Given the description of an element on the screen output the (x, y) to click on. 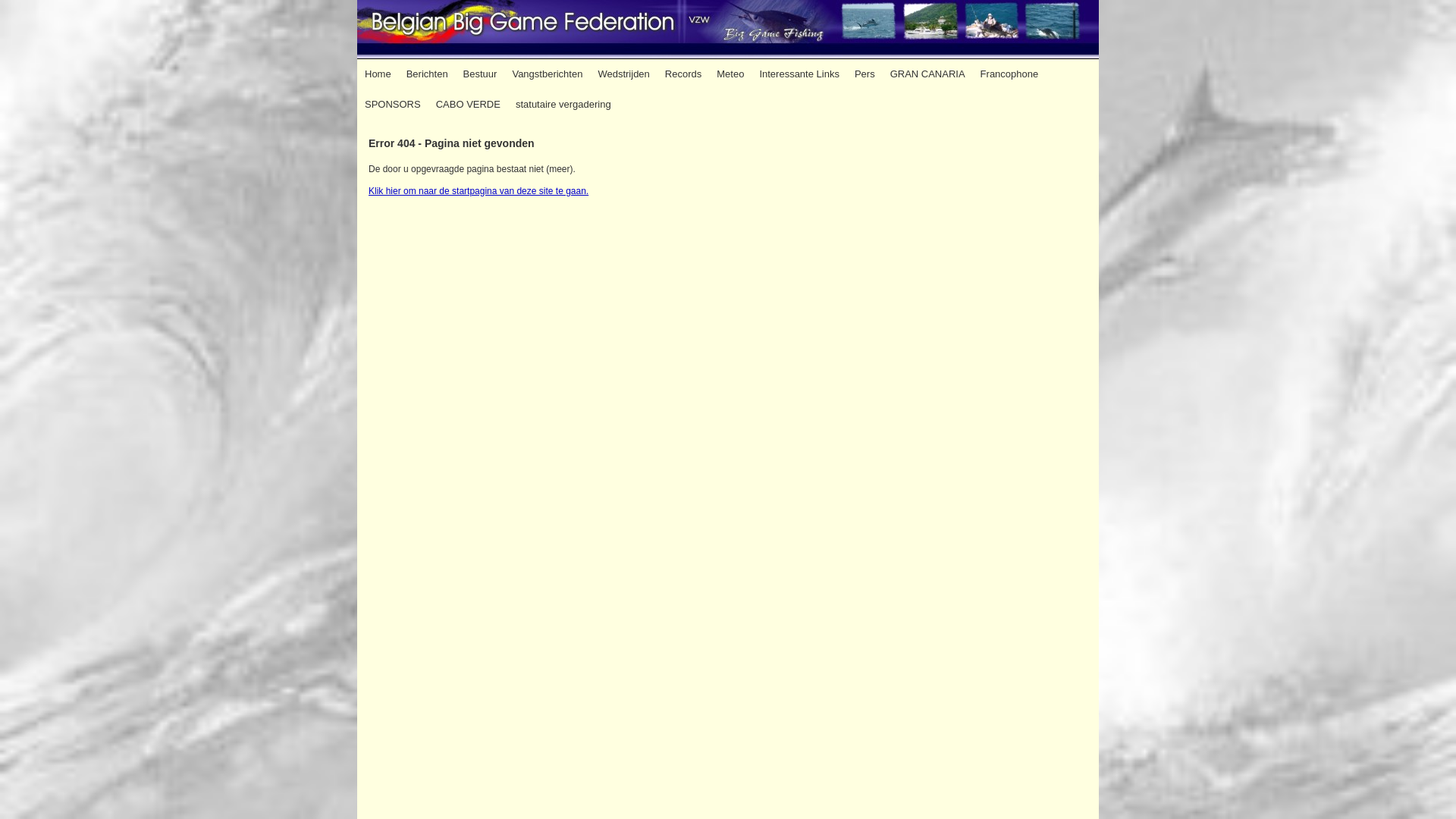
CABO VERDE Element type: text (468, 104)
SPONSORS Element type: text (392, 104)
Bestuur Element type: text (480, 74)
Wedstrijden Element type: text (622, 74)
Home Element type: text (377, 74)
Meteo Element type: text (730, 74)
Interessante Links Element type: text (799, 74)
Francophone Element type: text (1009, 74)
Pers Element type: text (864, 74)
Vangstberichten Element type: text (546, 74)
GRAN CANARIA Element type: text (927, 74)
statutaire vergadering Element type: text (563, 104)
Klik hier om naar de startpagina van deze site te gaan. Element type: text (478, 190)
Berichten Element type: text (426, 74)
Records Element type: text (683, 74)
